Given the description of an element on the screen output the (x, y) to click on. 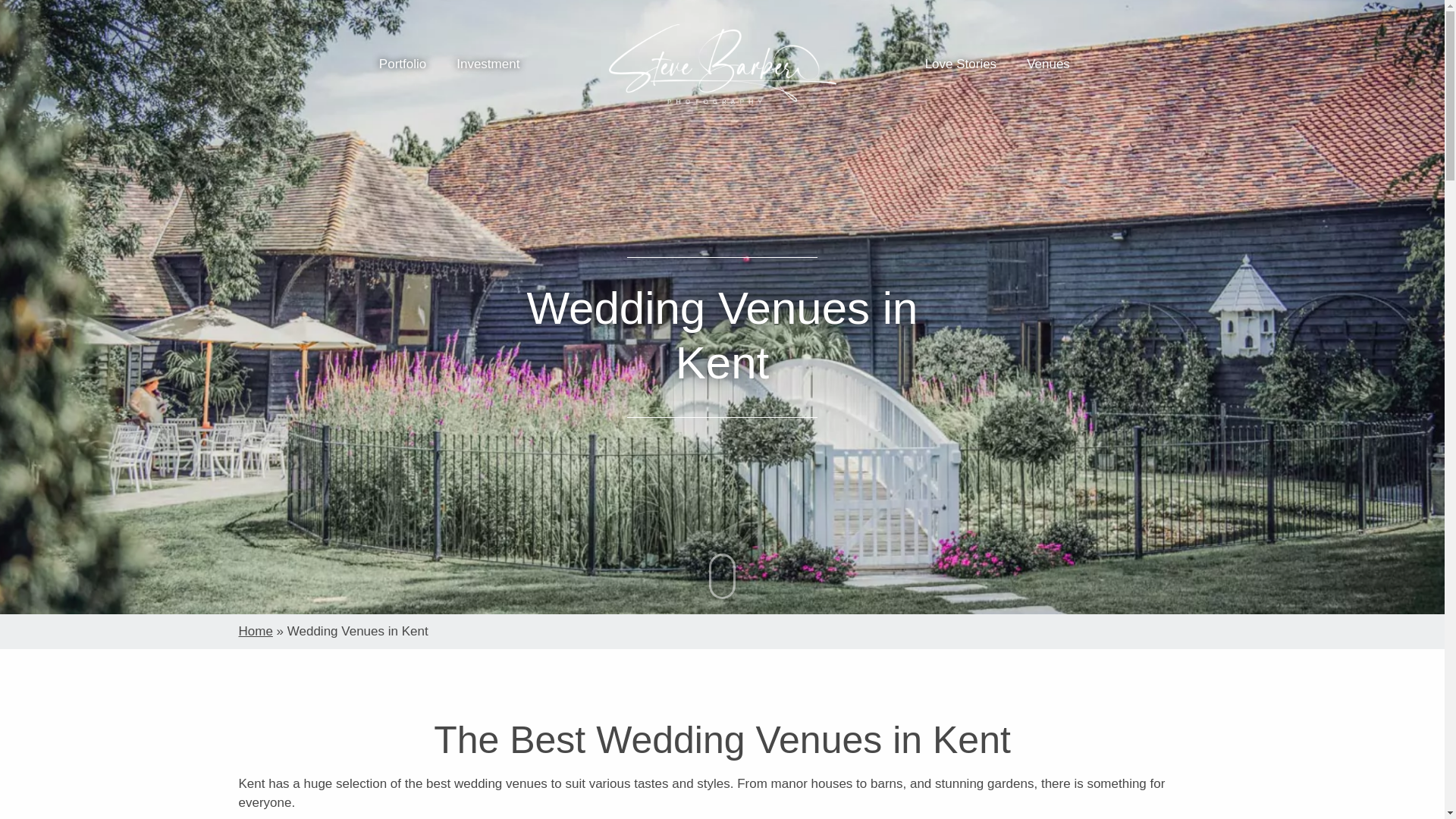
Investment (488, 64)
Portfolio (402, 64)
Venues (1048, 64)
Home (255, 631)
Love Stories (960, 64)
